Given the description of an element on the screen output the (x, y) to click on. 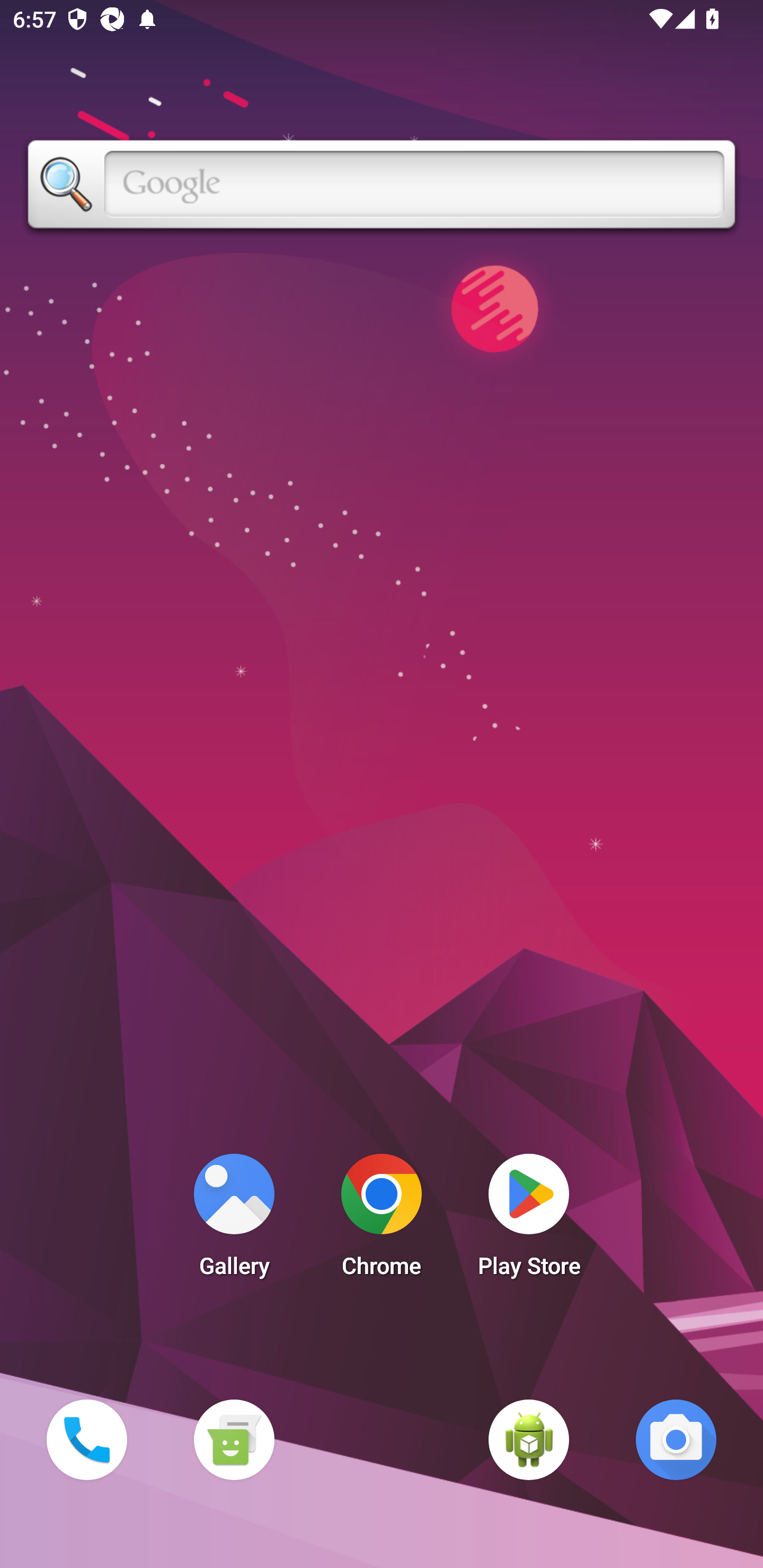
Gallery (233, 1220)
Chrome (381, 1220)
Play Store (528, 1220)
Phone (86, 1439)
Messaging (233, 1439)
WebView Browser Tester (528, 1439)
Camera (676, 1439)
